Given the description of an element on the screen output the (x, y) to click on. 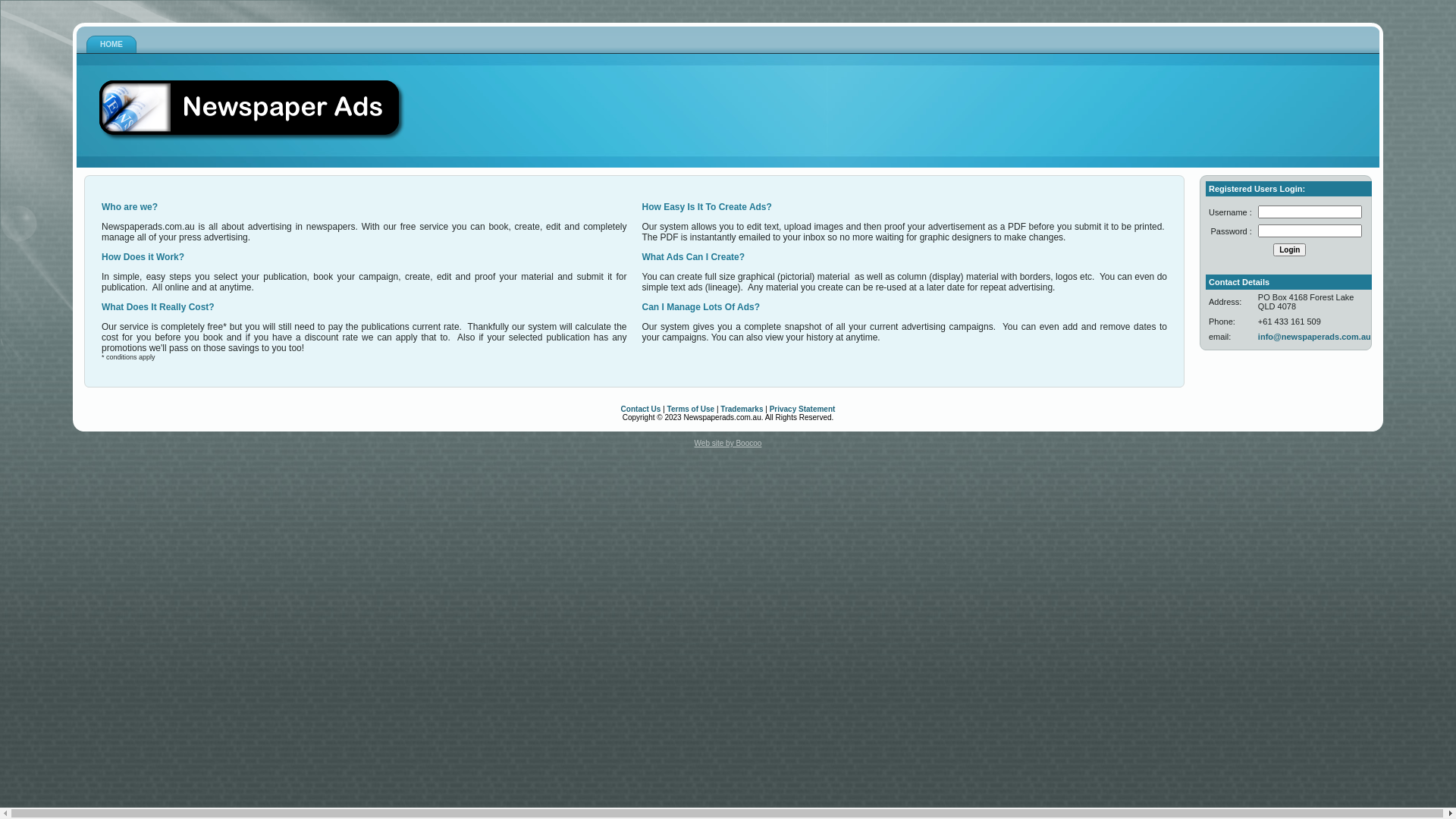
info@newspaperads.com.au Element type: text (1314, 336)
HOME Element type: text (111, 44)
Web site by Boocoo Element type: text (728, 443)
Privacy Statement Element type: text (802, 408)
Newspaperads.com.au Element type: hover (251, 110)
Contact Us Element type: text (641, 408)
Trademarks Element type: text (741, 408)
Terms of Use Element type: text (691, 408)
Login Element type: text (1289, 249)
